Given the description of an element on the screen output the (x, y) to click on. 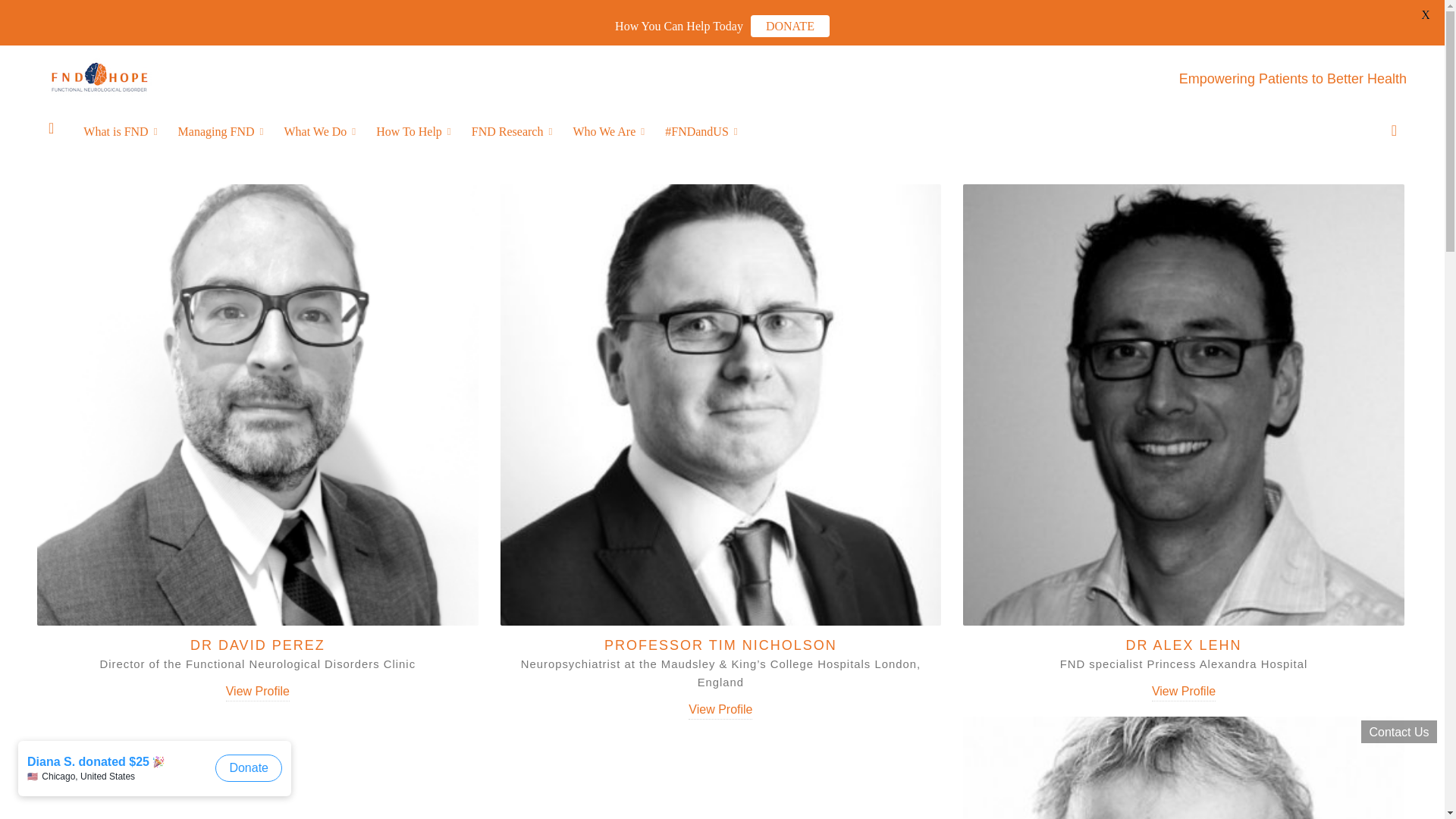
Donation Activity Popup (158, 776)
